Given the description of an element on the screen output the (x, y) to click on. 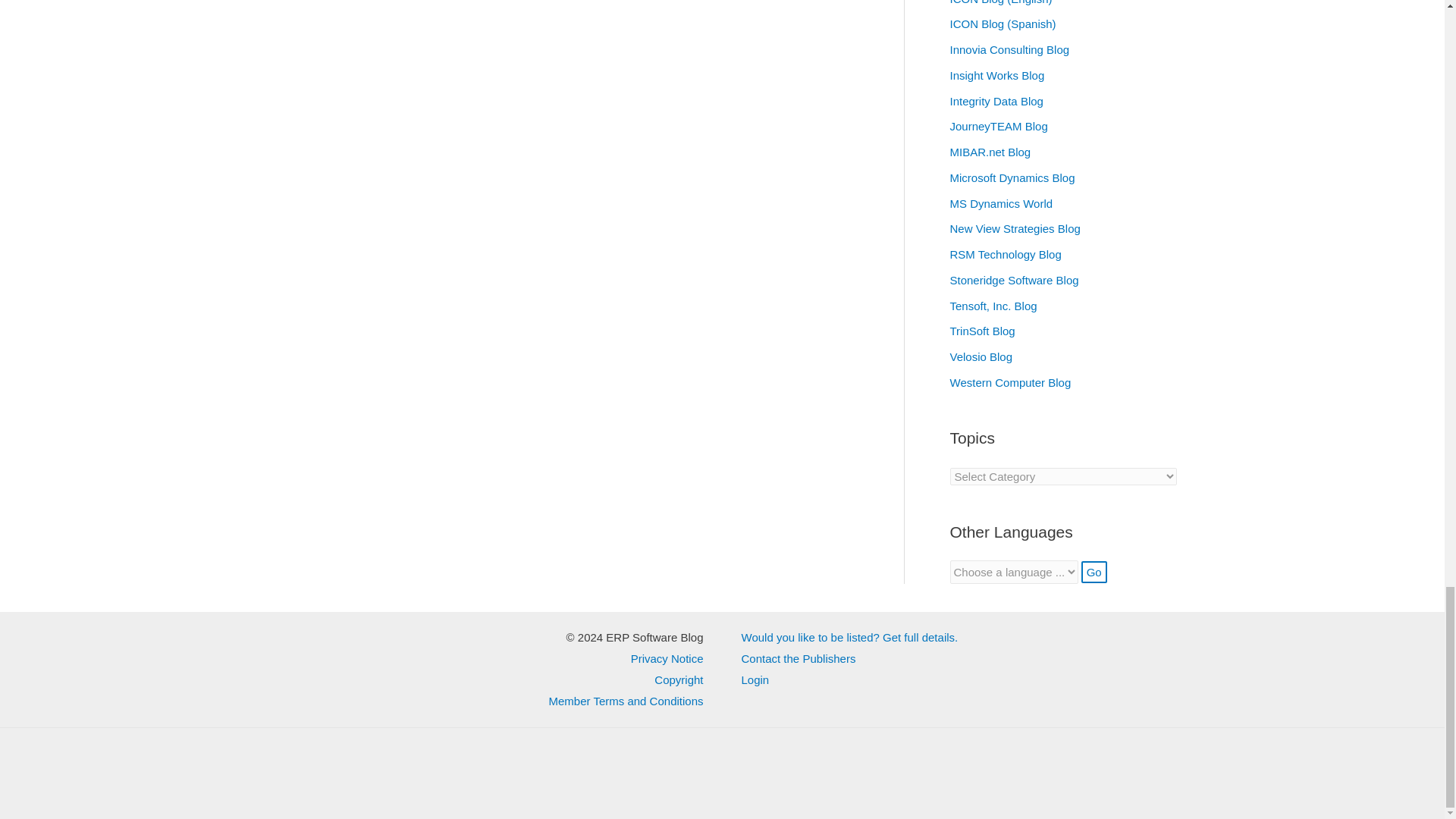
Innovia Consulting Blog (1008, 49)
Integrity Data Blog (995, 101)
Go (1093, 572)
Insight Works Blog (996, 74)
